Given the description of an element on the screen output the (x, y) to click on. 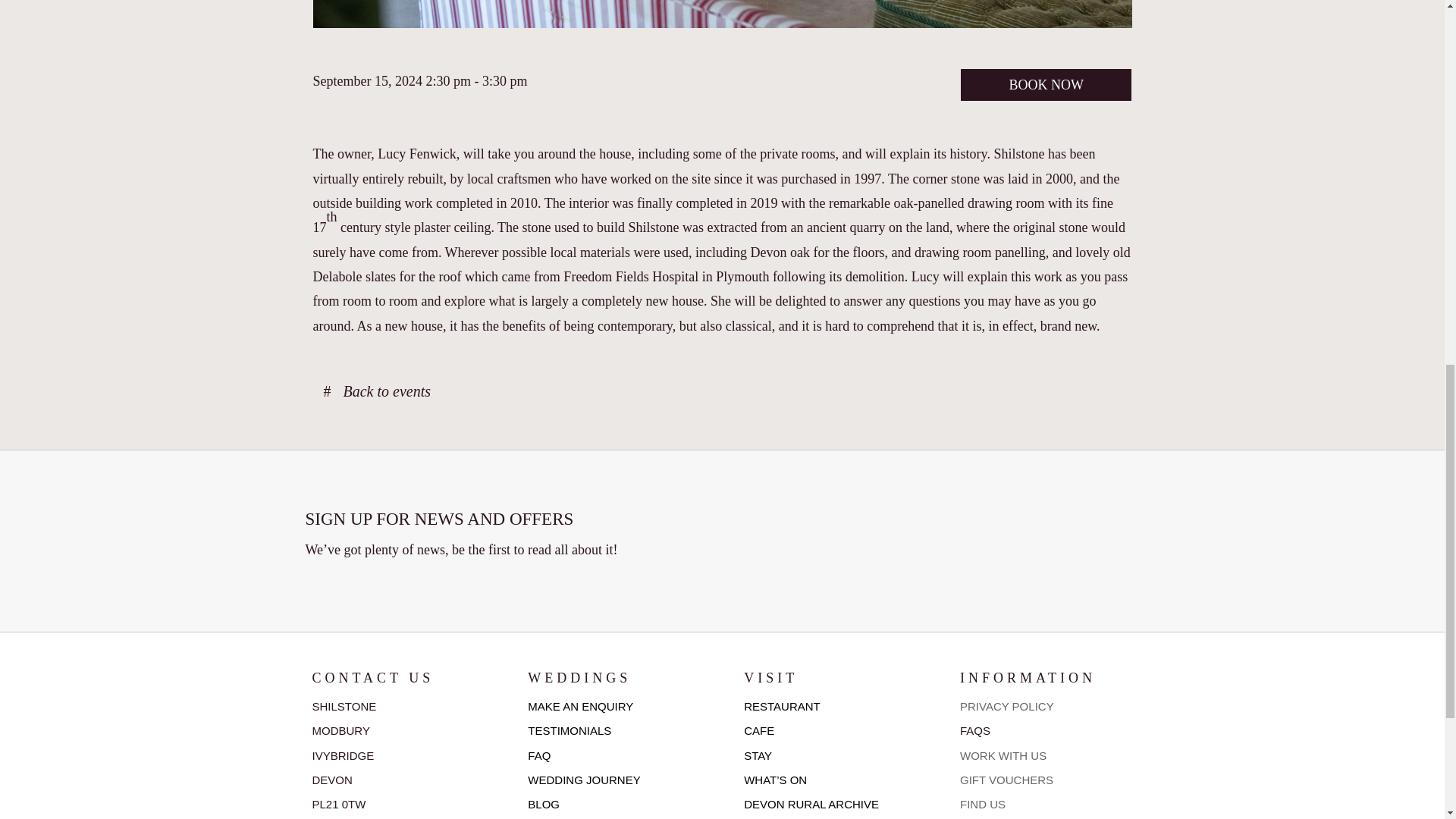
BOOK NOW (1046, 84)
CONTACT US (373, 677)
Back to events (377, 390)
